Given the description of an element on the screen output the (x, y) to click on. 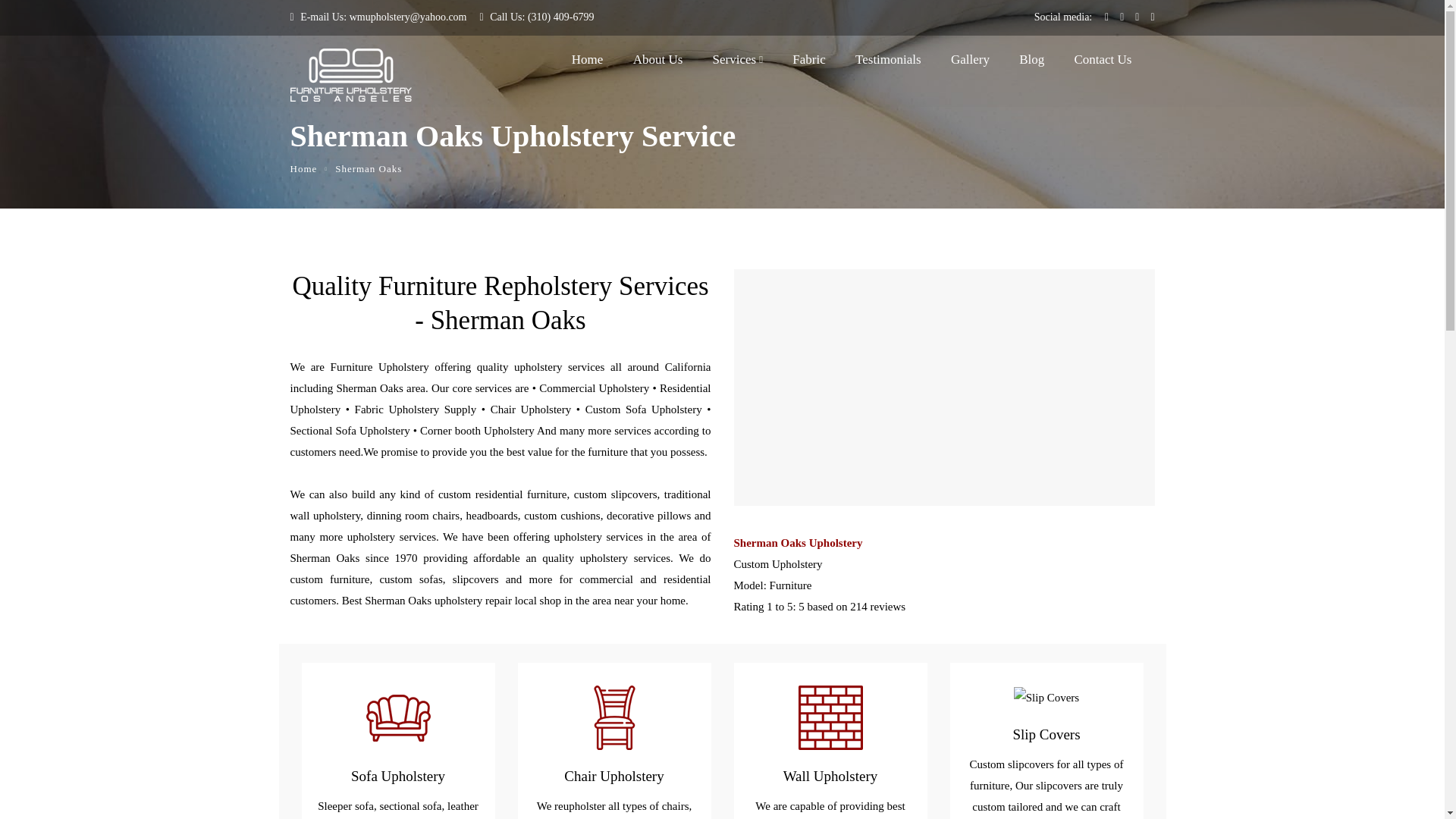
Contact Us (1102, 62)
Services (737, 62)
Home (588, 62)
Gallery (970, 62)
Blog (1031, 62)
Fabric (808, 62)
About Us (657, 62)
Testimonials (888, 62)
Home (303, 168)
Sherman Oaks Upholstery (943, 542)
